Given the description of an element on the screen output the (x, y) to click on. 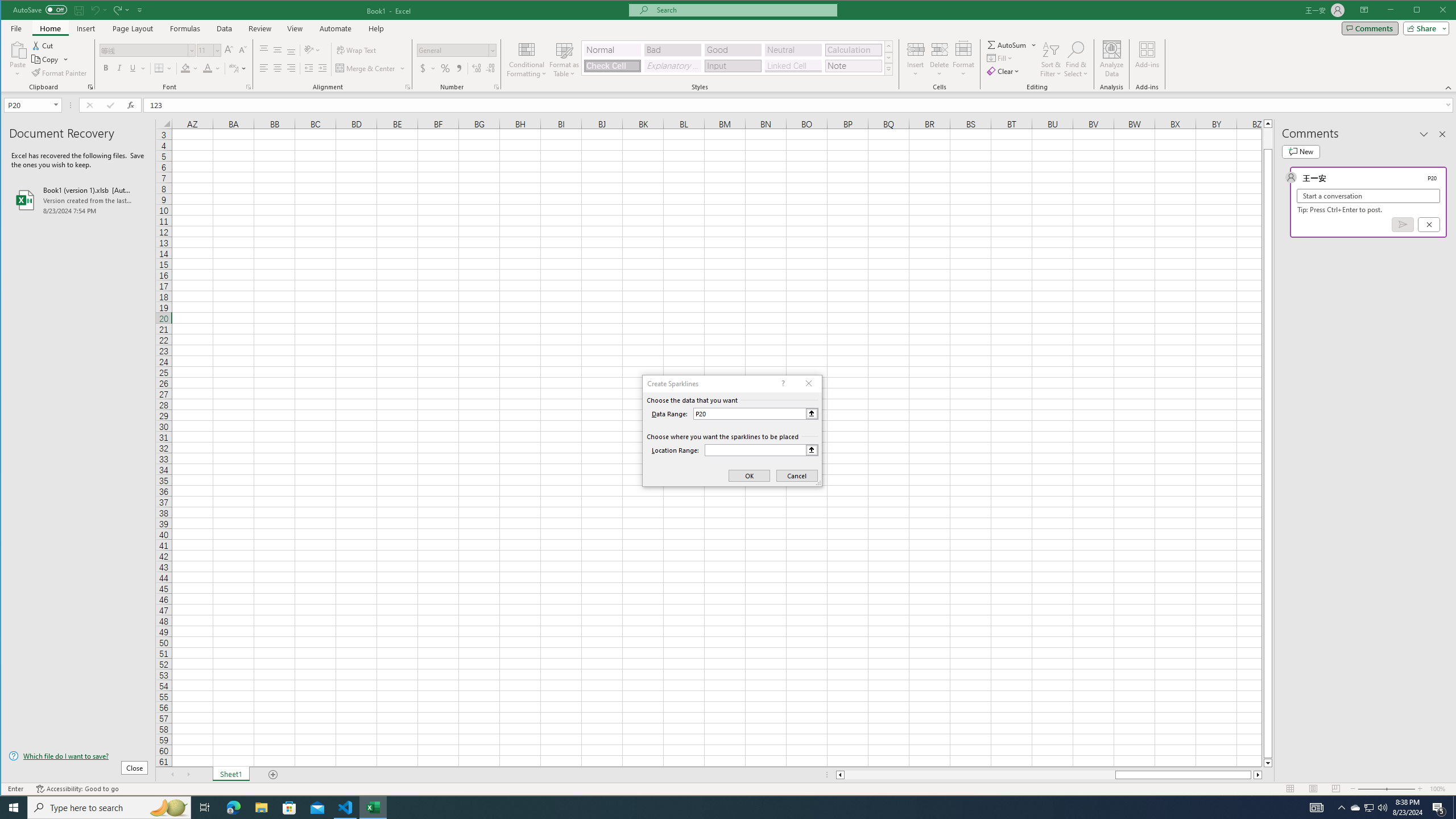
Format Cell Number (496, 86)
Font Color (211, 68)
Cut (42, 45)
Sum (1007, 44)
AutomationID: CellStylesGallery (736, 57)
New comment (1300, 151)
